Given the description of an element on the screen output the (x, y) to click on. 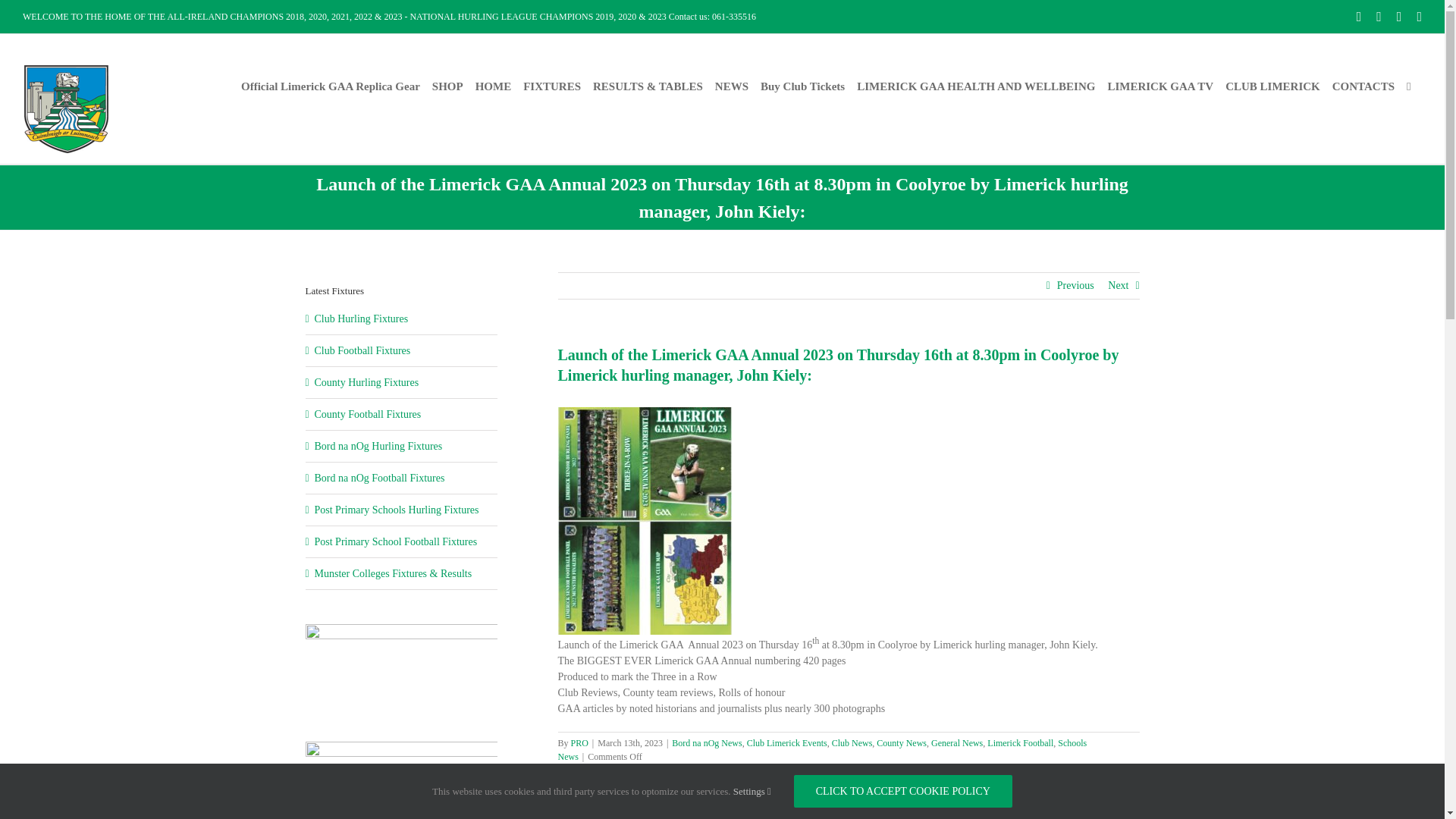
LIMERICK GAA HEALTH AND WELLBEING (975, 85)
Posts by PRO (579, 742)
Official Limerick GAA Replica Gear (330, 85)
Buy Club Tickets (802, 85)
FIXTURES (551, 85)
